Given the description of an element on the screen output the (x, y) to click on. 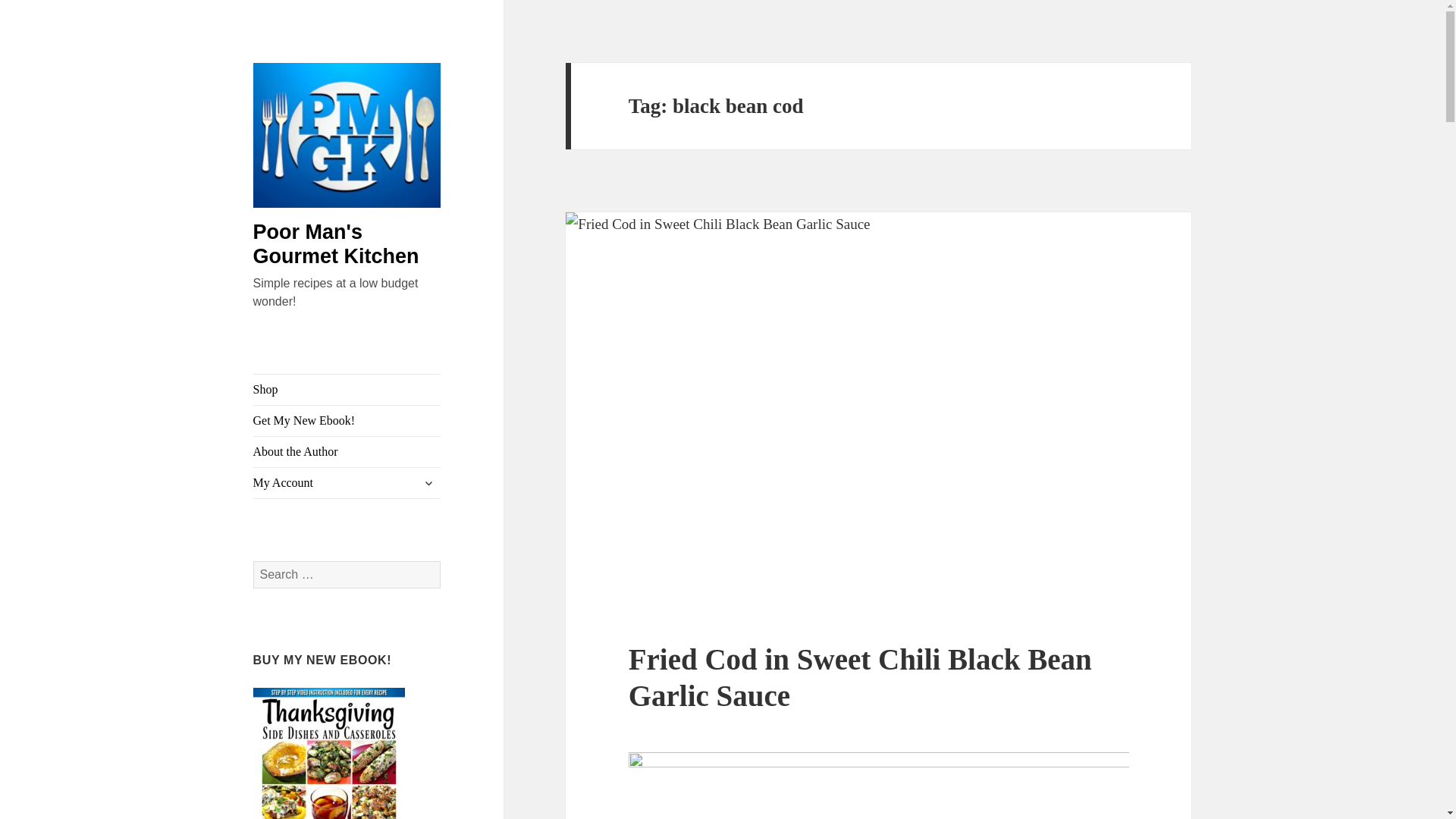
Fried Cod in Sweet Chili Black Bean Garlic Sauce (860, 676)
My Account (347, 482)
Shop (347, 389)
Poor Man's Gourmet Kitchen (336, 243)
expand child menu (428, 482)
About the Author (347, 451)
Get My New Ebook! (347, 420)
